Given the description of an element on the screen output the (x, y) to click on. 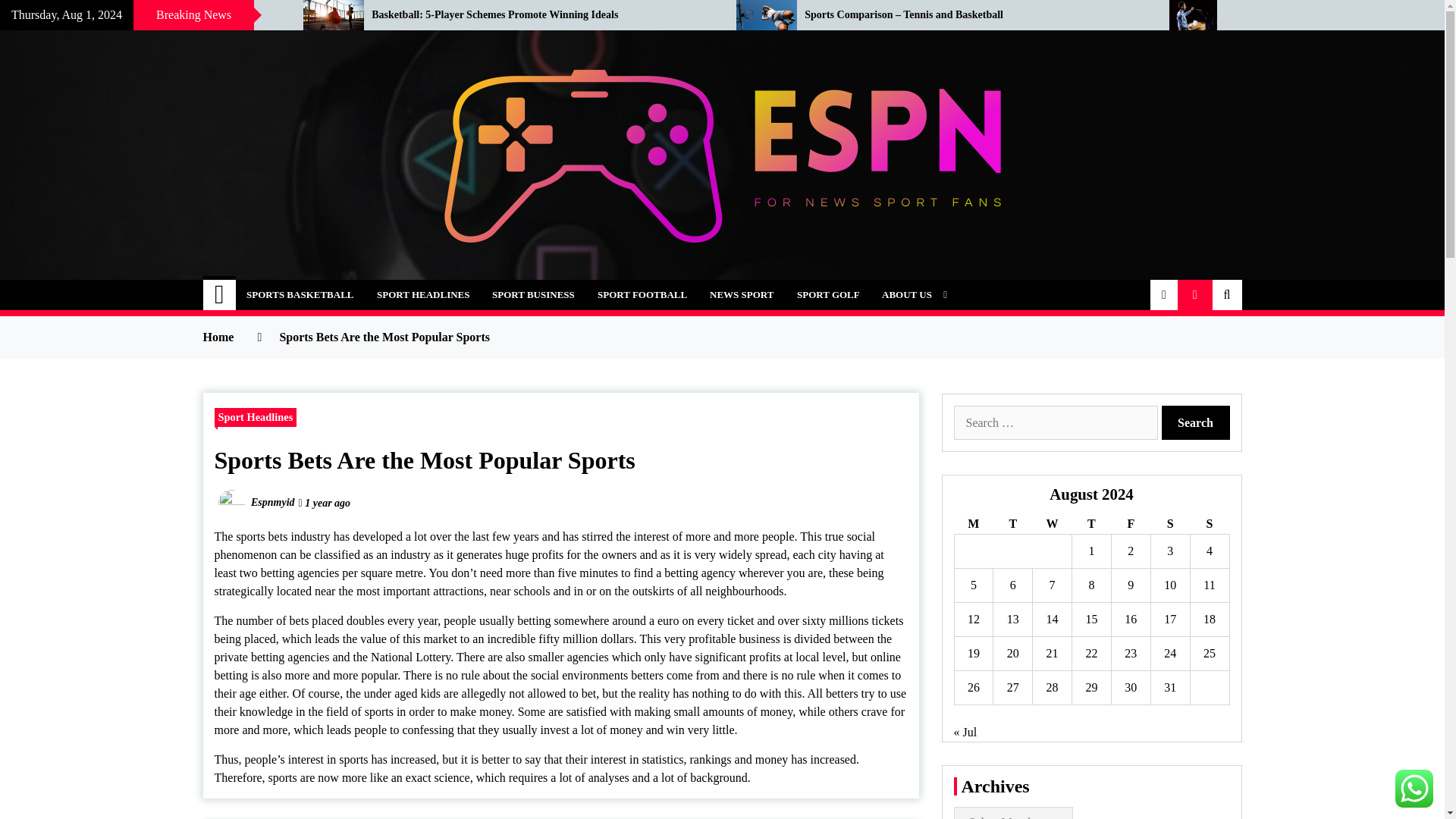
Sunday (1208, 524)
Home (219, 295)
Basketball: 5-Player Schemes Promote Winning Ideals (542, 15)
Search (1195, 422)
Monday (972, 524)
Friday (1130, 524)
Thursday (1091, 524)
Tuesday (1012, 524)
Wednesday (1051, 524)
Saturday (1169, 524)
Search (1195, 422)
